Given the description of an element on the screen output the (x, y) to click on. 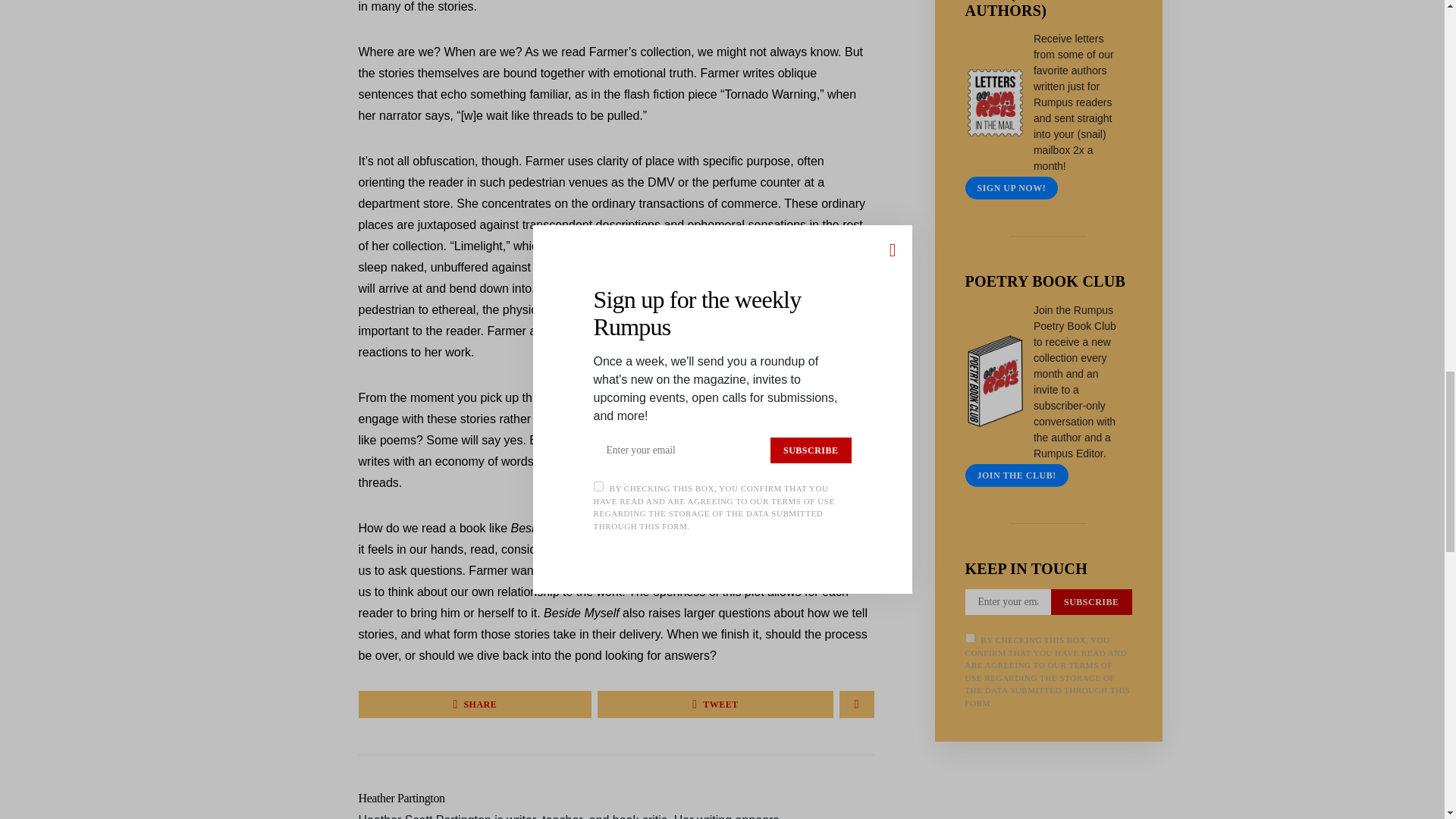
3rd party ad content (1047, 804)
on (968, 637)
